Given the description of an element on the screen output the (x, y) to click on. 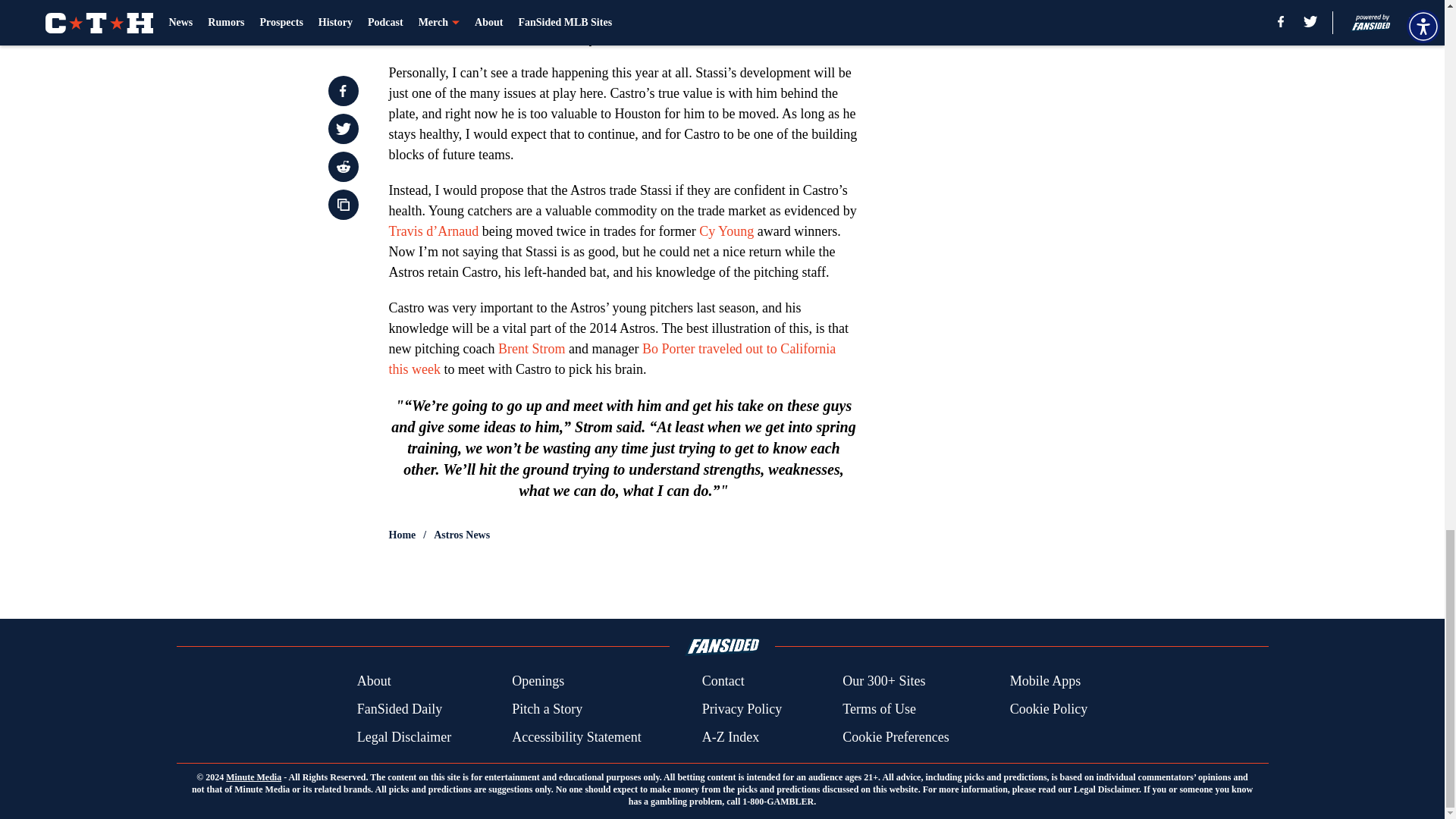
Cy Young (726, 231)
traveled out to California this week (611, 358)
Home (401, 534)
Astros News (461, 534)
Mobile Apps (1045, 680)
About (373, 680)
Openings (538, 680)
Bo Porter (668, 348)
Brent Strom (531, 348)
Pitch a Story (547, 709)
